Given the description of an element on the screen output the (x, y) to click on. 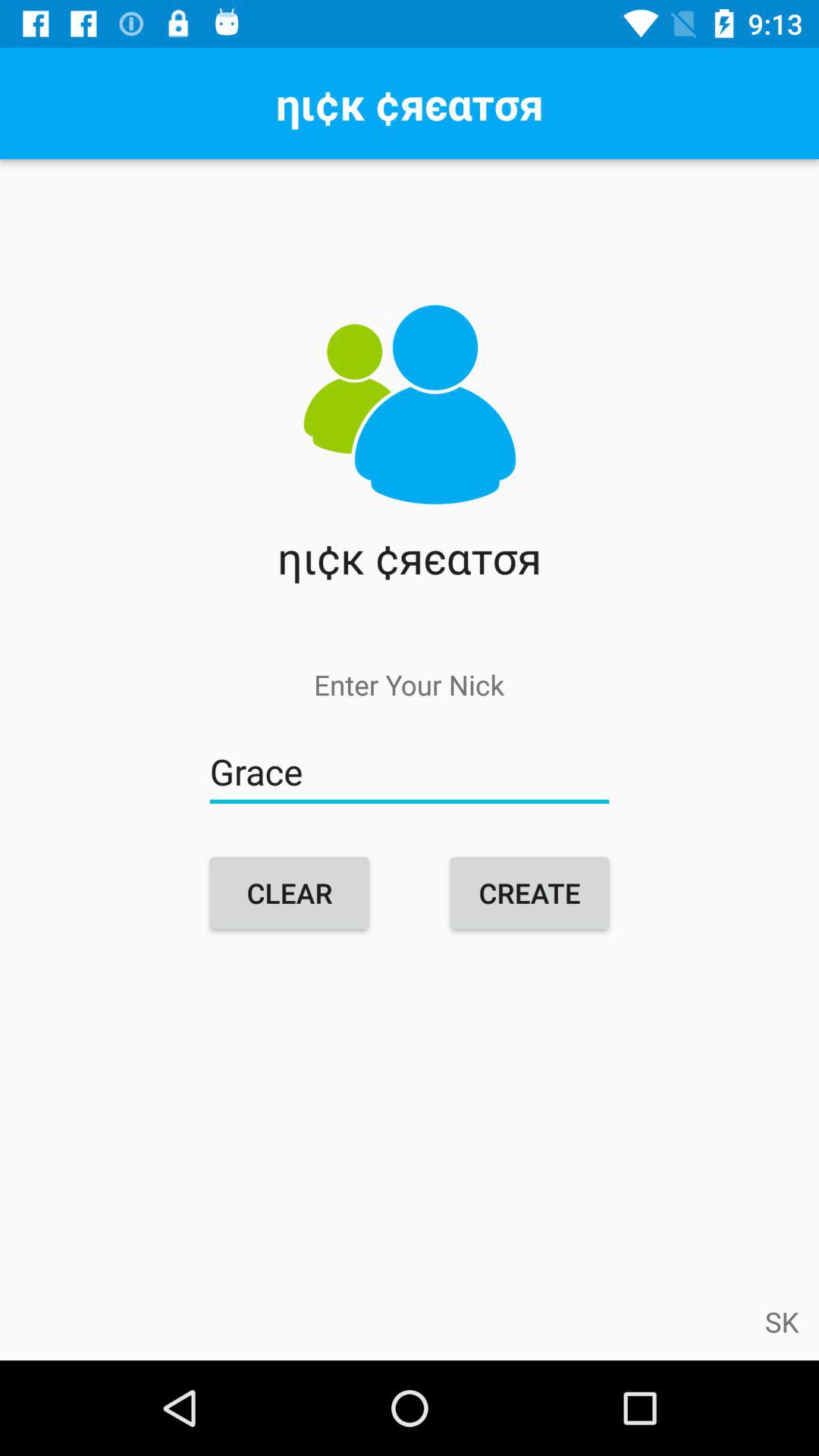
jump to create item (529, 892)
